Given the description of an element on the screen output the (x, y) to click on. 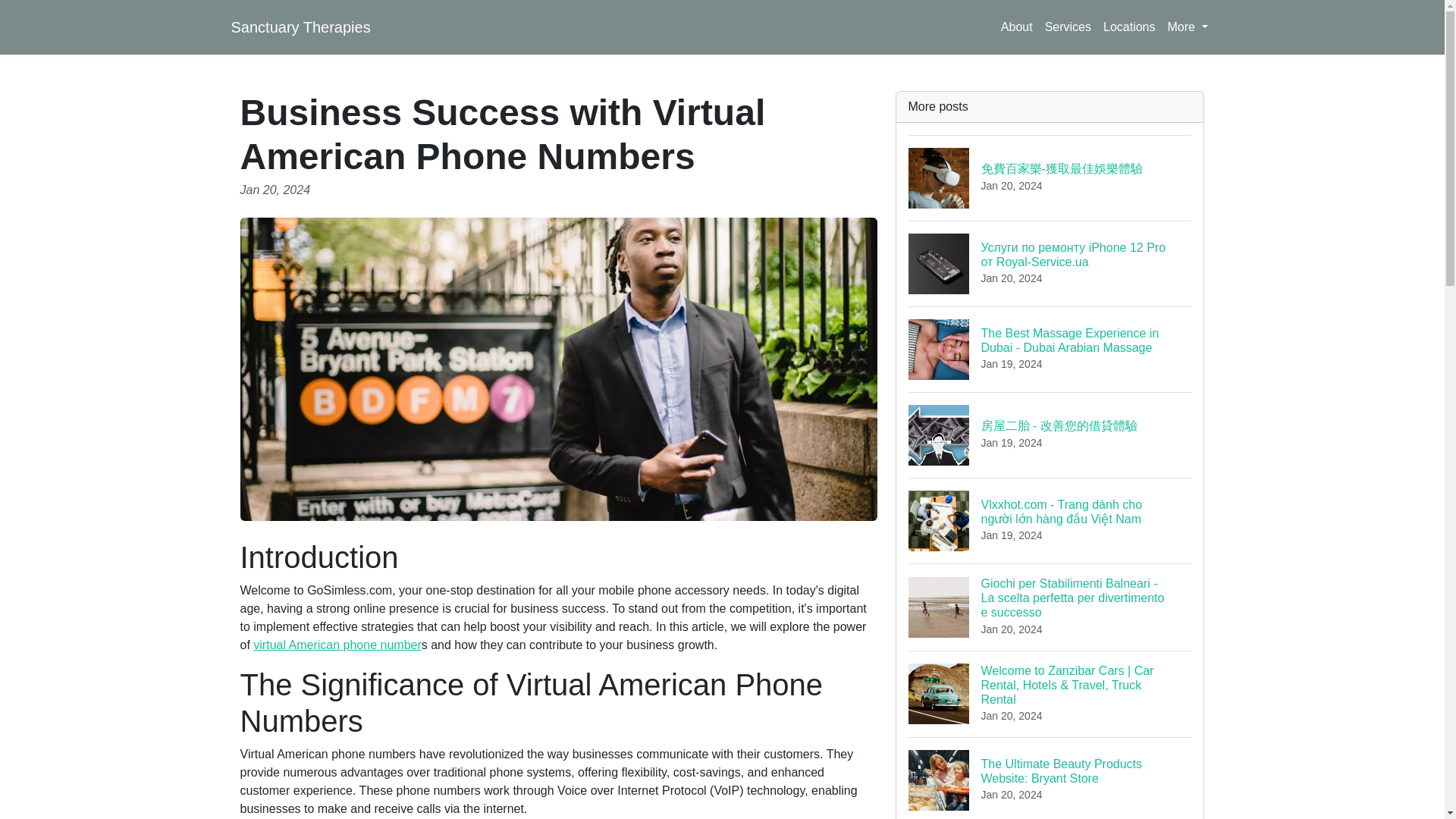
virtual American phone number (336, 644)
About (1016, 27)
More (1187, 27)
Services (1068, 27)
Sanctuary Therapies (299, 27)
Locations (1129, 27)
